Given the description of an element on the screen output the (x, y) to click on. 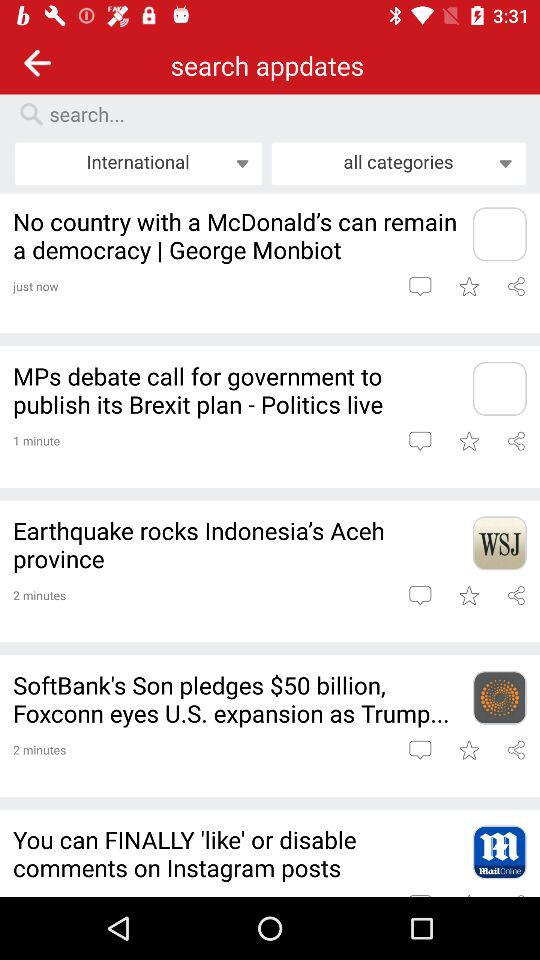
click on full message message (419, 595)
